Given the description of an element on the screen output the (x, y) to click on. 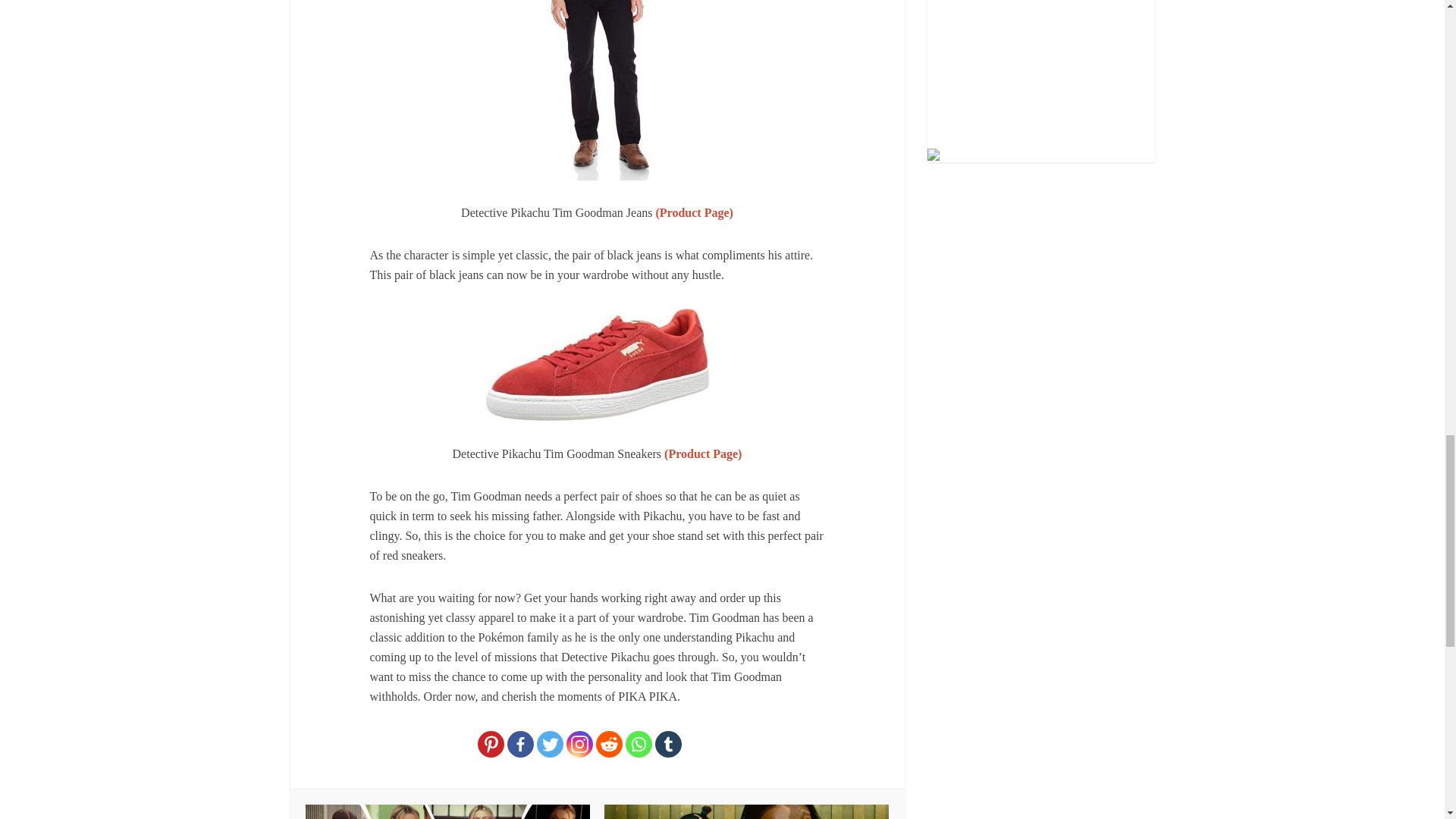
Tumblr (668, 744)
Pinterest (490, 744)
Reddit (609, 744)
Instagram (579, 744)
Whatsapp (639, 744)
Facebook (520, 744)
Twitter (550, 744)
